Given the description of an element on the screen output the (x, y) to click on. 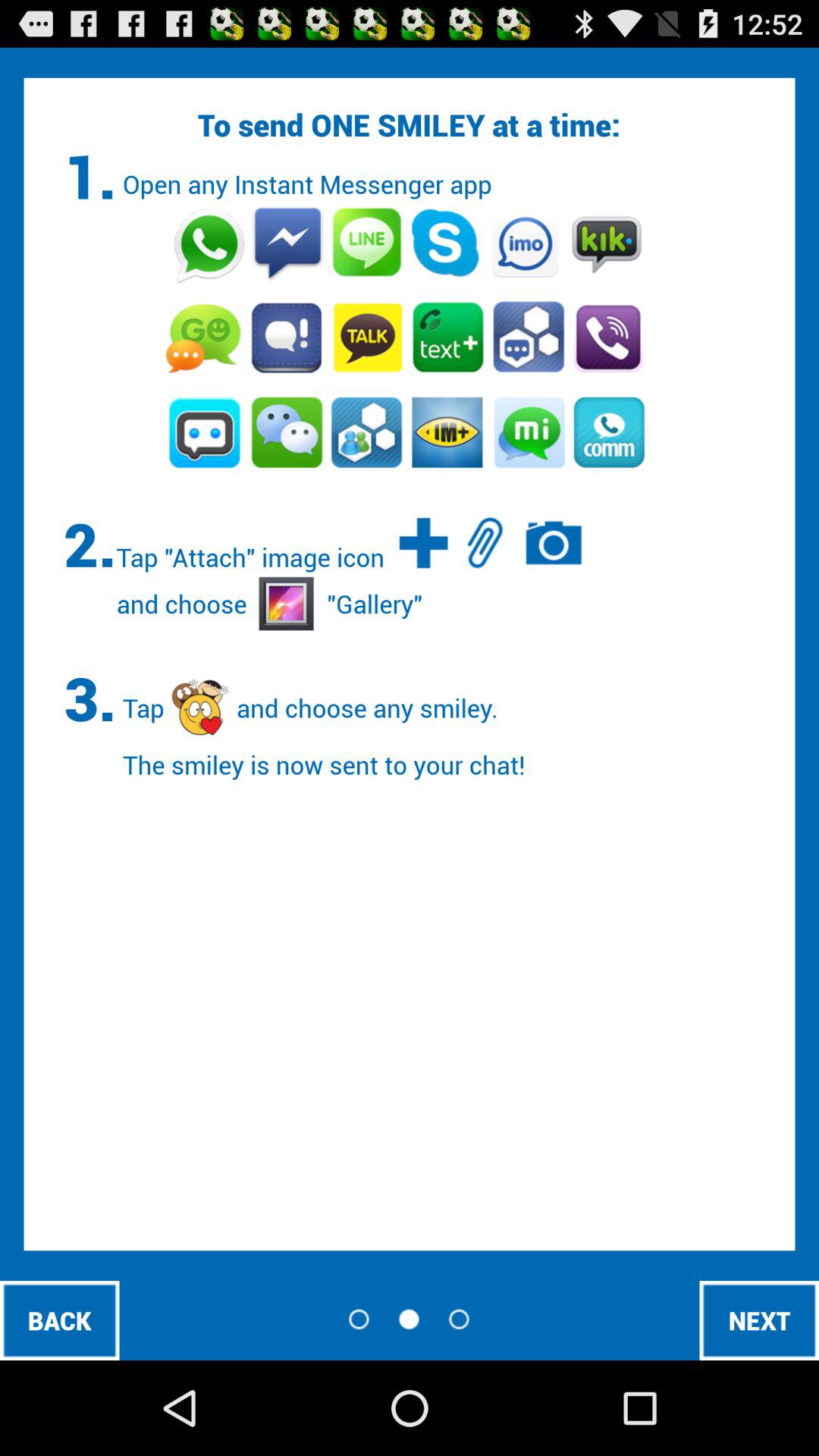
press the back (59, 1320)
